Given the description of an element on the screen output the (x, y) to click on. 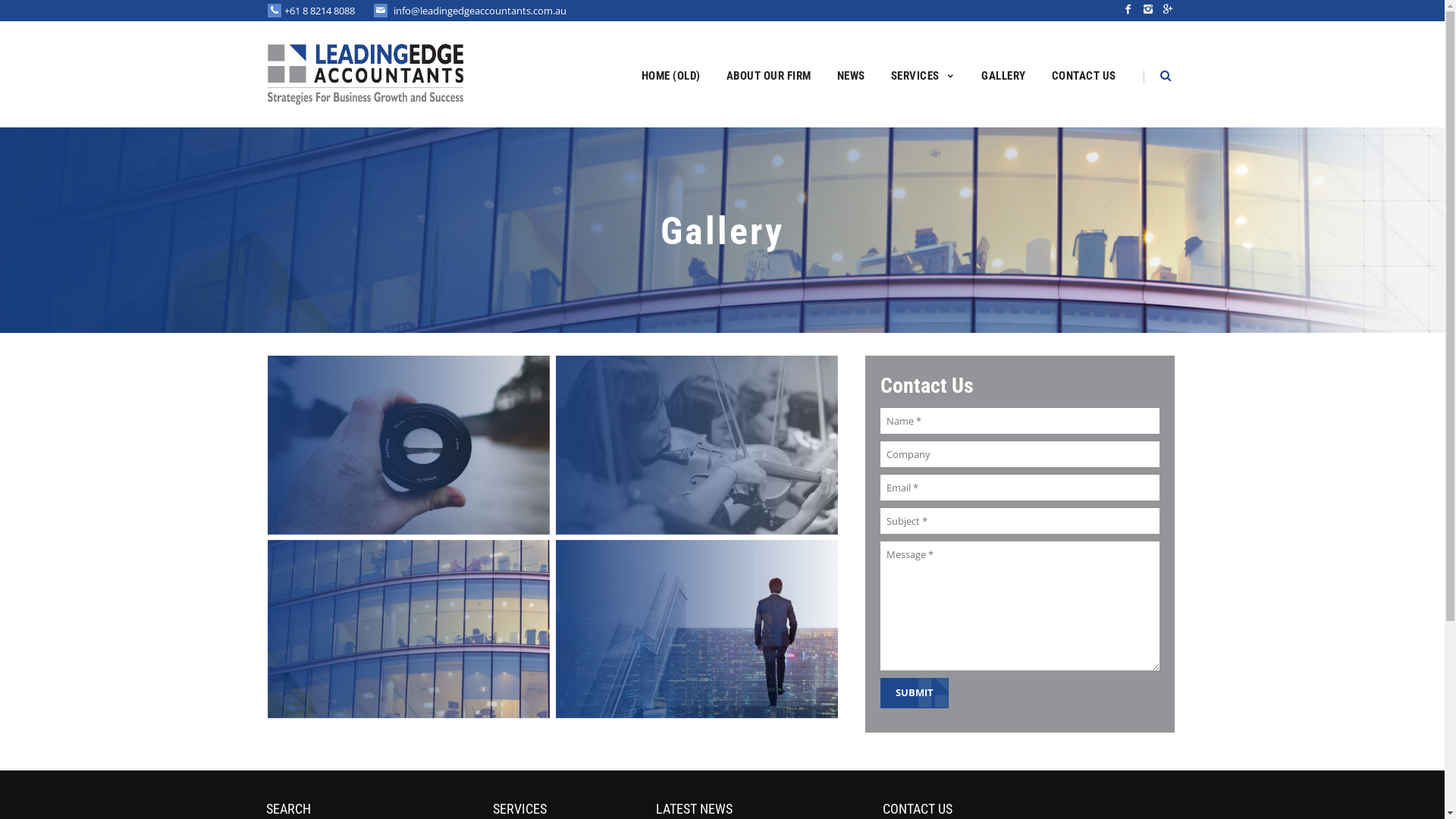
Instagram Element type: hover (1147, 9)
+61 8 8214 8088 Element type: text (318, 10)
NEWS Element type: text (850, 74)
Facebook Element type: hover (1127, 9)
GALLERY Element type: text (1003, 74)
ABOUT OUR FIRM Element type: text (767, 74)
HOME (OLD) Element type: text (669, 74)
Search Element type: text (34, 14)
Google Plus Element type: hover (1166, 9)
info@leadingedgeaccountants.com.au Element type: text (478, 10)
Submit Element type: text (913, 692)
| Element type: text (1138, 74)
SERVICES Element type: text (923, 74)
CONTACT US Element type: text (1083, 74)
